Given the description of an element on the screen output the (x, y) to click on. 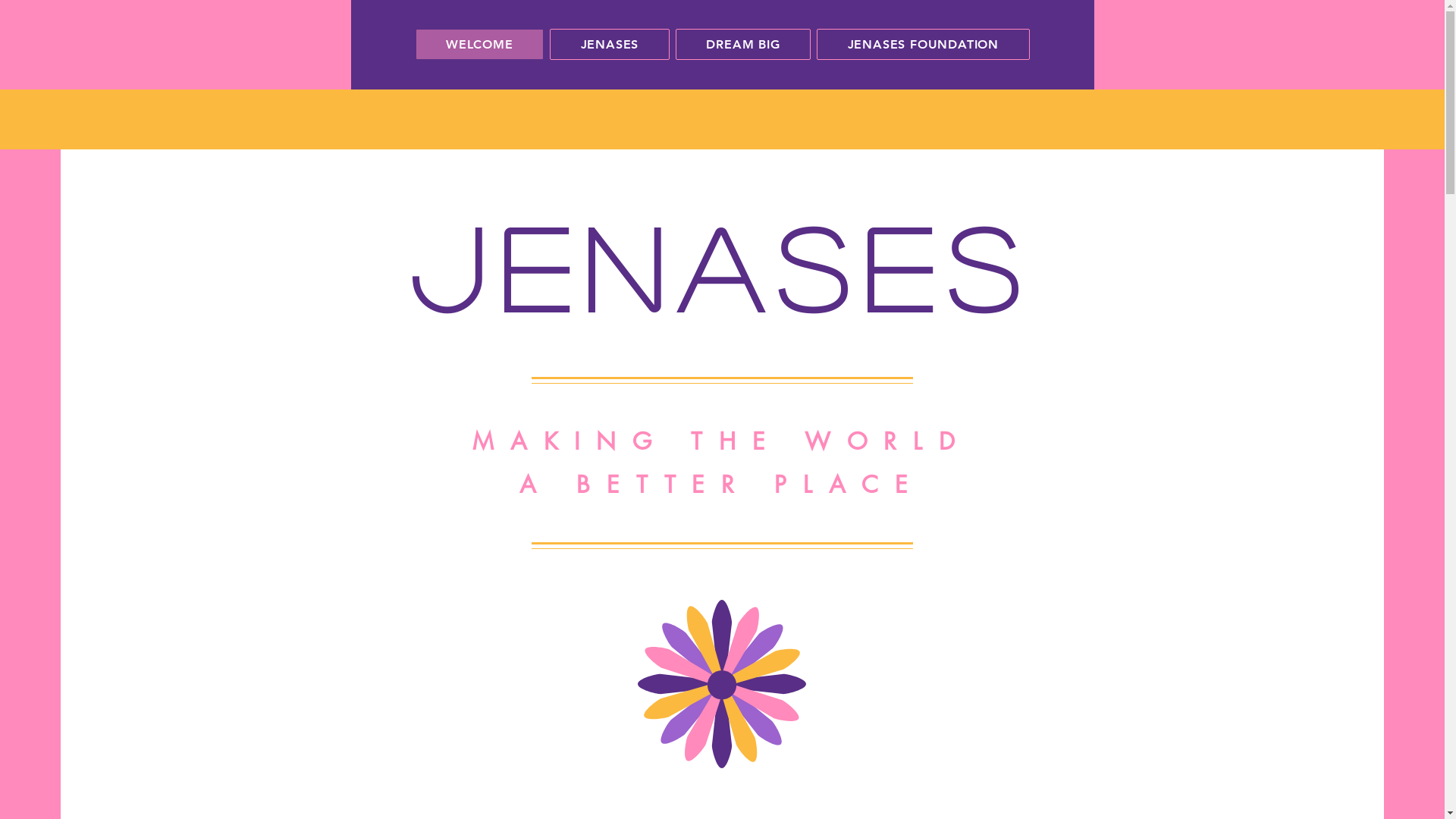
JENASES Element type: text (609, 43)
JENASES FOUNDATION Element type: text (922, 43)
DREAM BIG Element type: text (742, 43)
WELCOME Element type: text (479, 43)
